Given the description of an element on the screen output the (x, y) to click on. 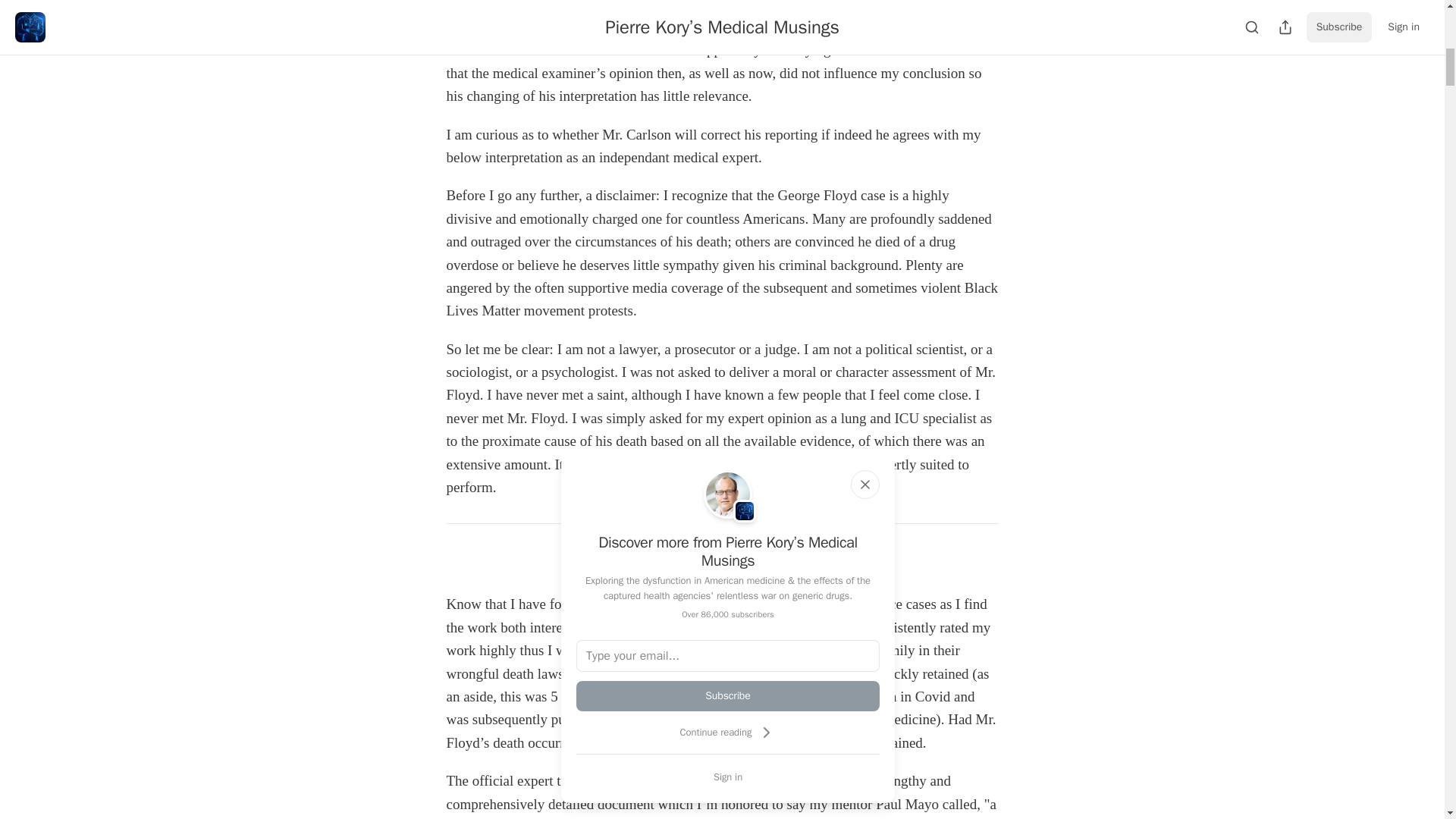
Subscribe (727, 695)
Sign in (727, 776)
Subscribe (827, 562)
